Given the description of an element on the screen output the (x, y) to click on. 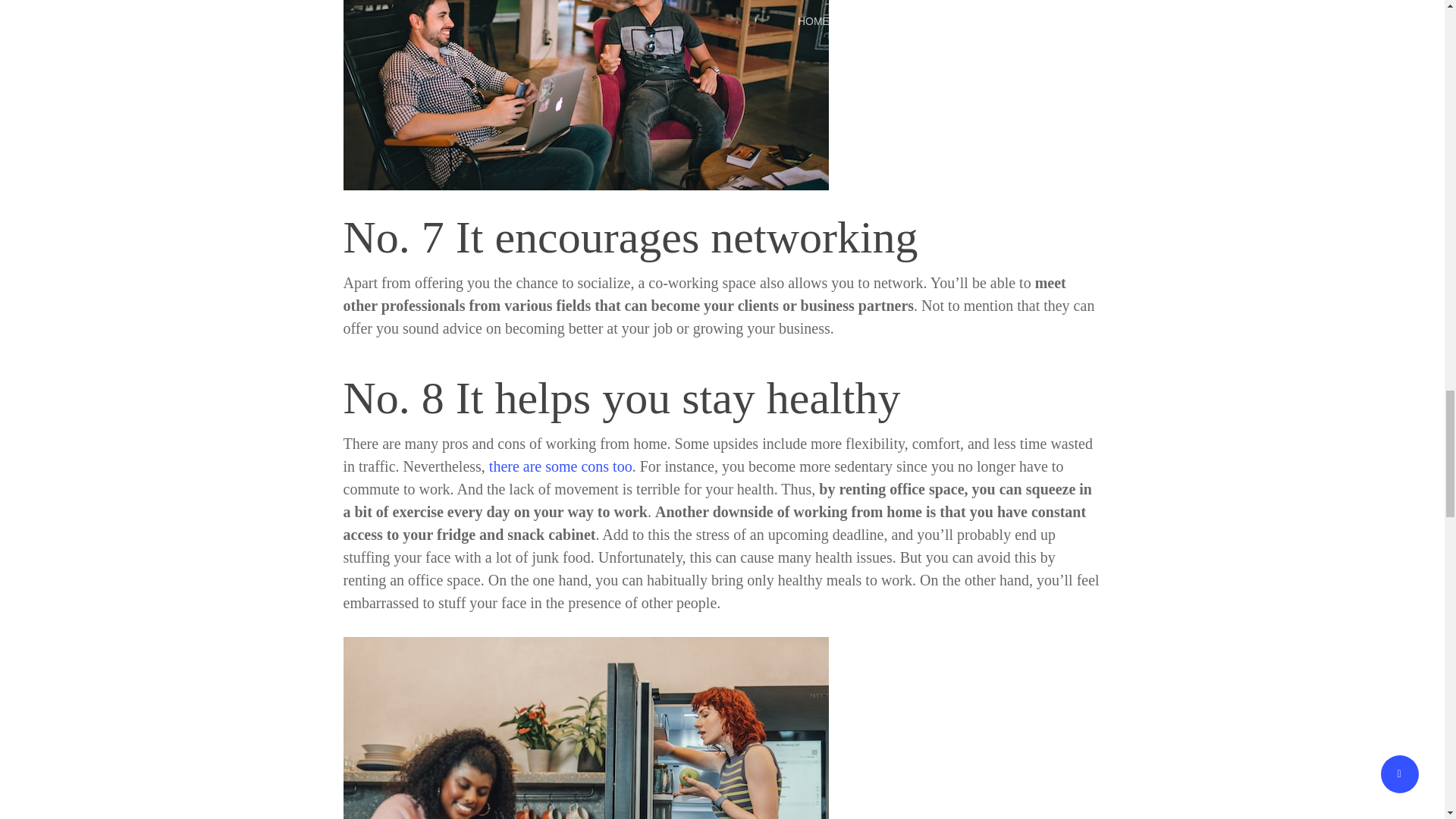
there are some cons too (560, 466)
